Given the description of an element on the screen output the (x, y) to click on. 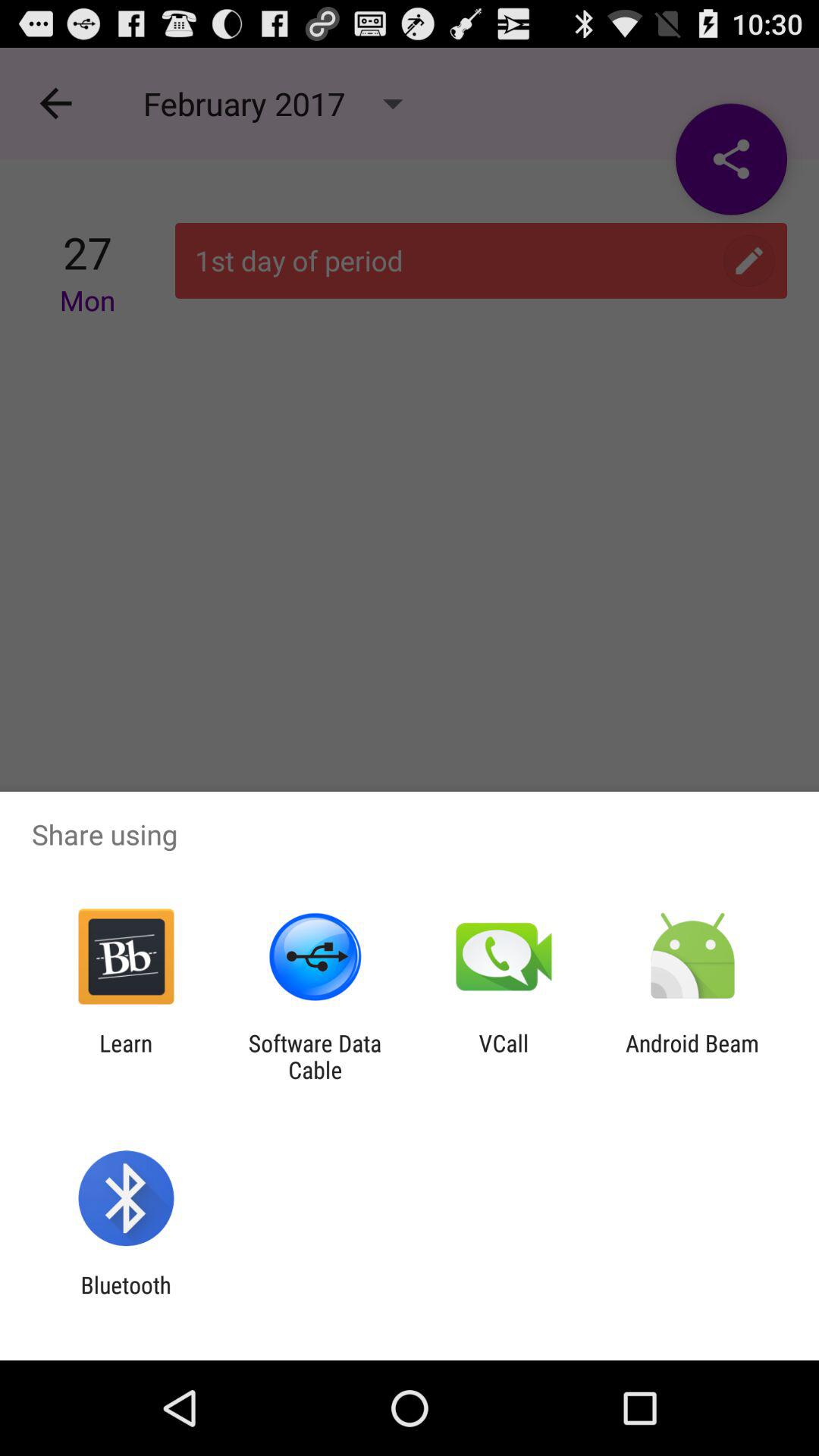
select the learn app (125, 1056)
